Given the description of an element on the screen output the (x, y) to click on. 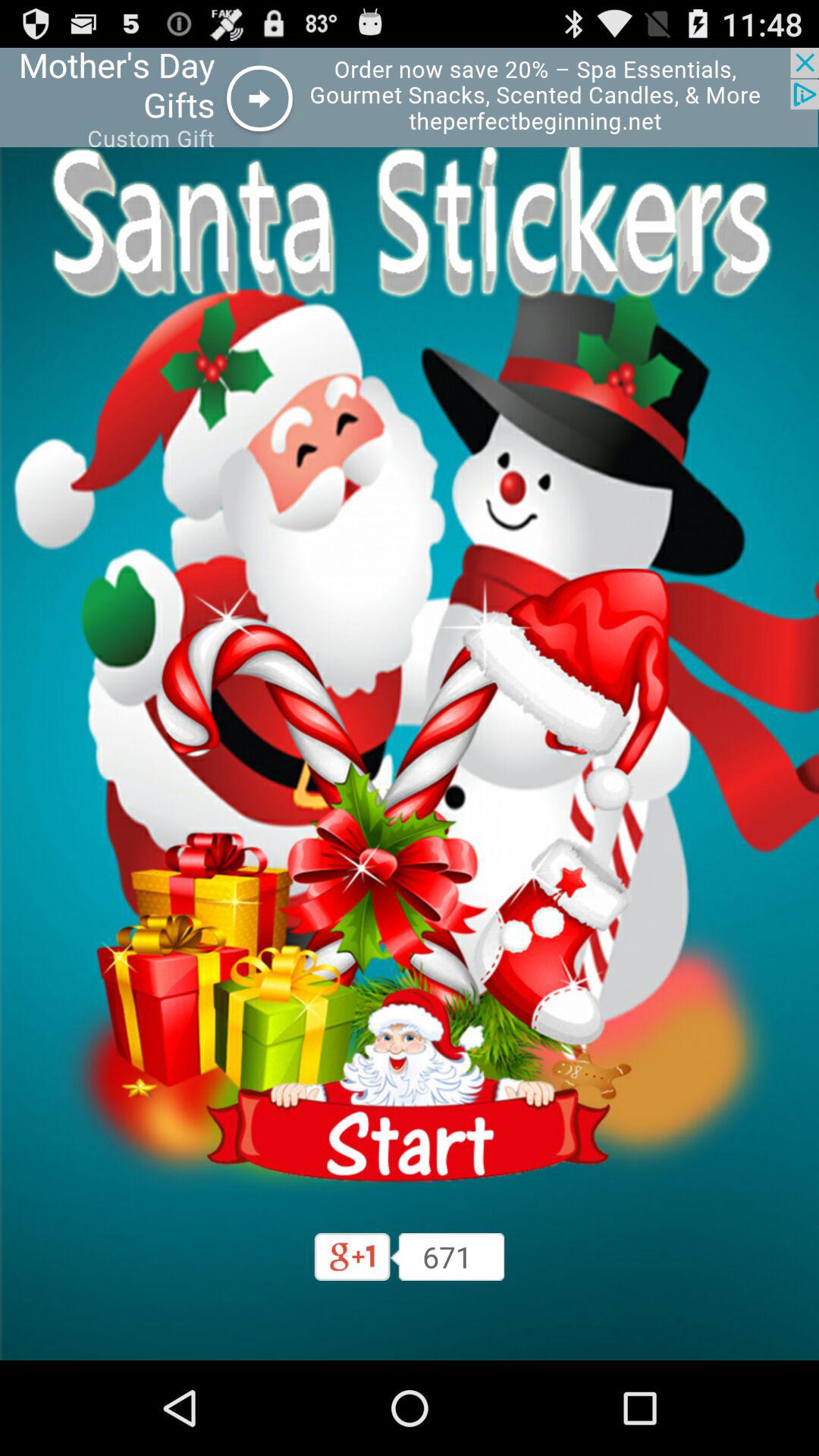
nadvantisment (409, 1085)
